Given the description of an element on the screen output the (x, y) to click on. 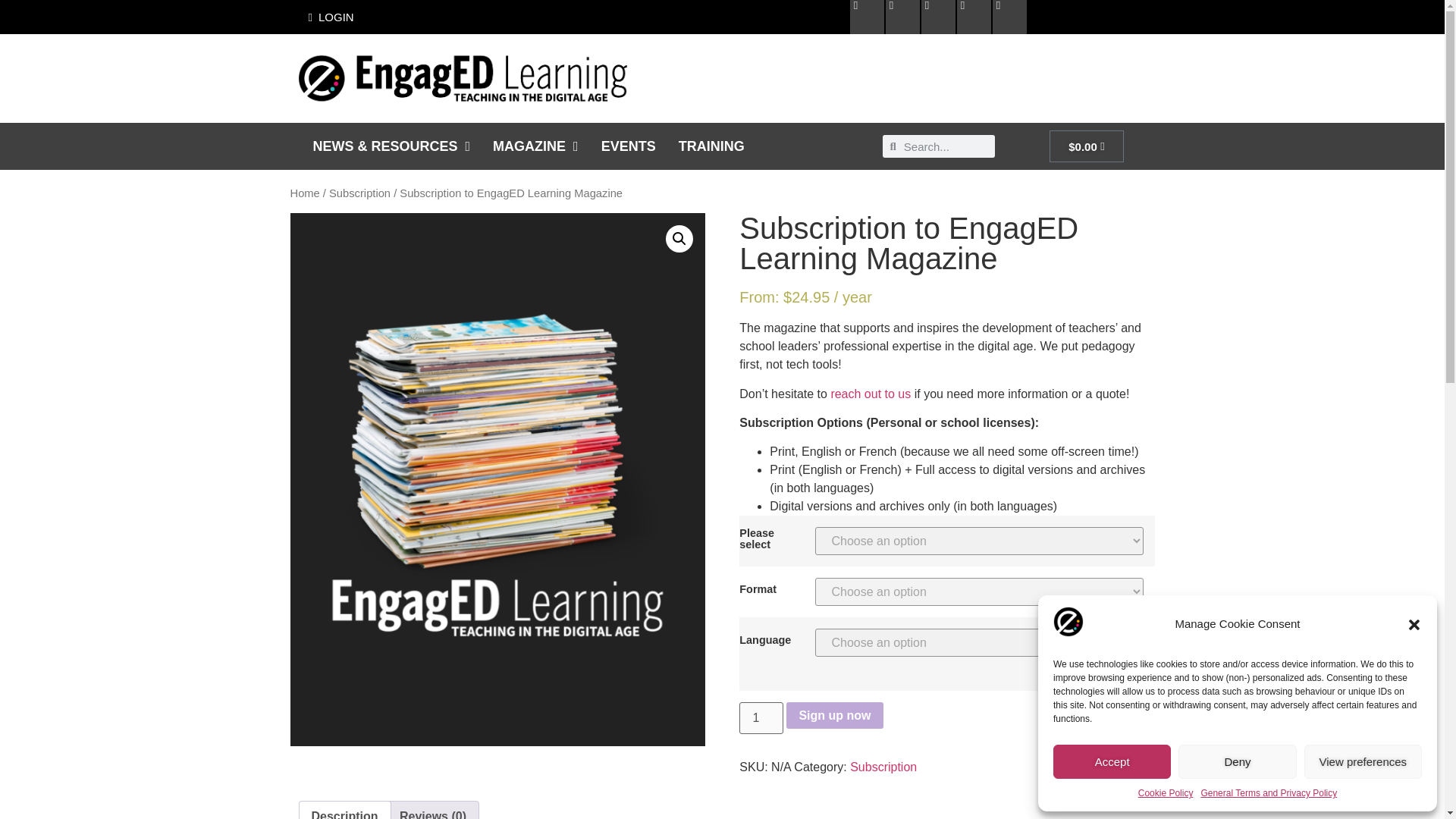
LOGIN (330, 16)
Cookie Policy (1165, 793)
Accept (1111, 761)
1 (761, 717)
TRAINING (711, 146)
View preferences (1363, 761)
MAGAZINE (535, 146)
Deny (1236, 761)
General Terms and Privacy Policy (1267, 793)
EVENTS (628, 146)
